Given the description of an element on the screen output the (x, y) to click on. 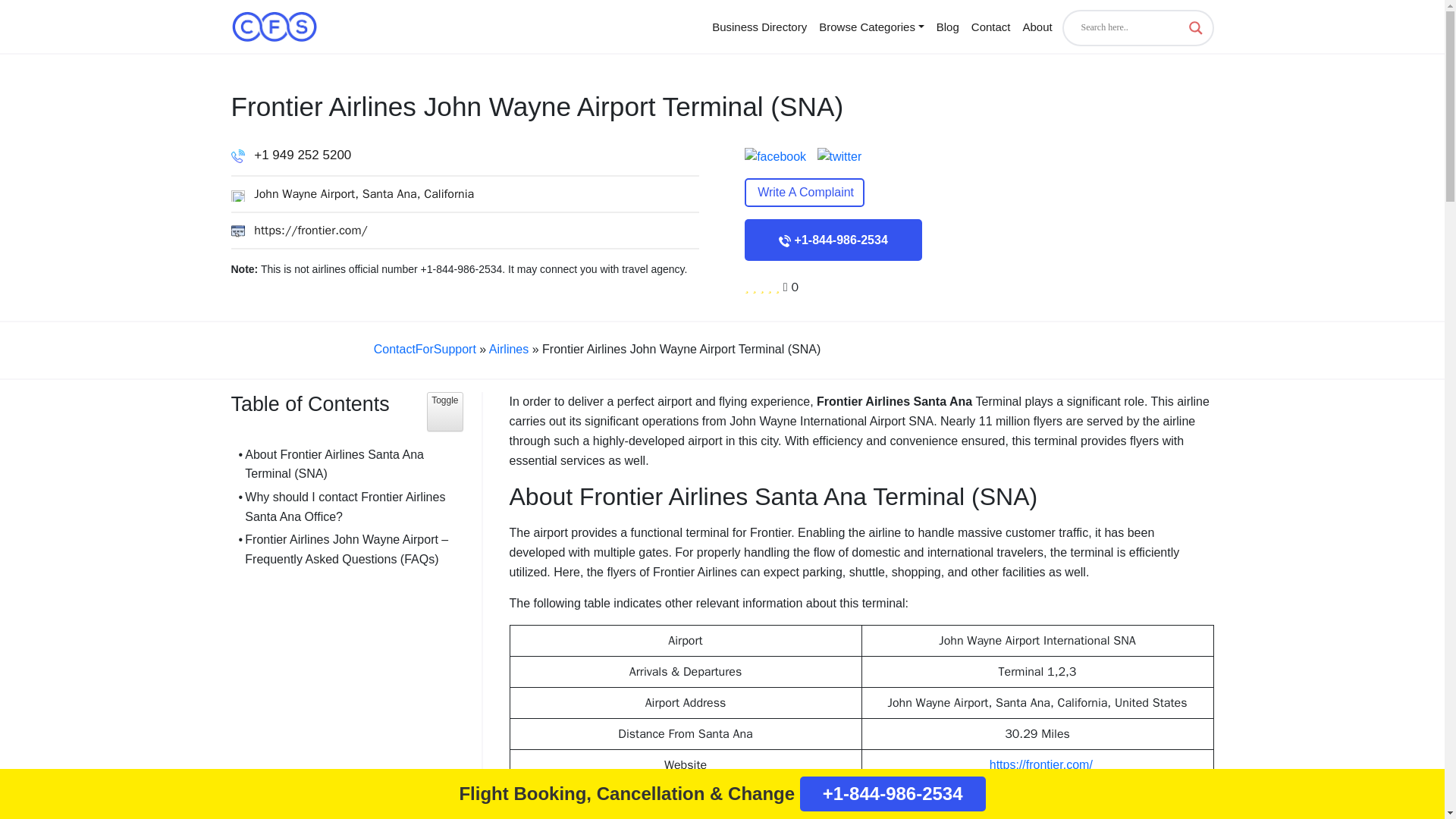
Write A Complaint (804, 192)
Airlines (508, 349)
Why should I contact Frontier Airlines Santa Ana Office? (346, 506)
Business Directory (444, 411)
About (759, 25)
About (1037, 25)
ContactForSupport (1037, 25)
Contact (425, 349)
Browse Categories (990, 25)
